Given the description of an element on the screen output the (x, y) to click on. 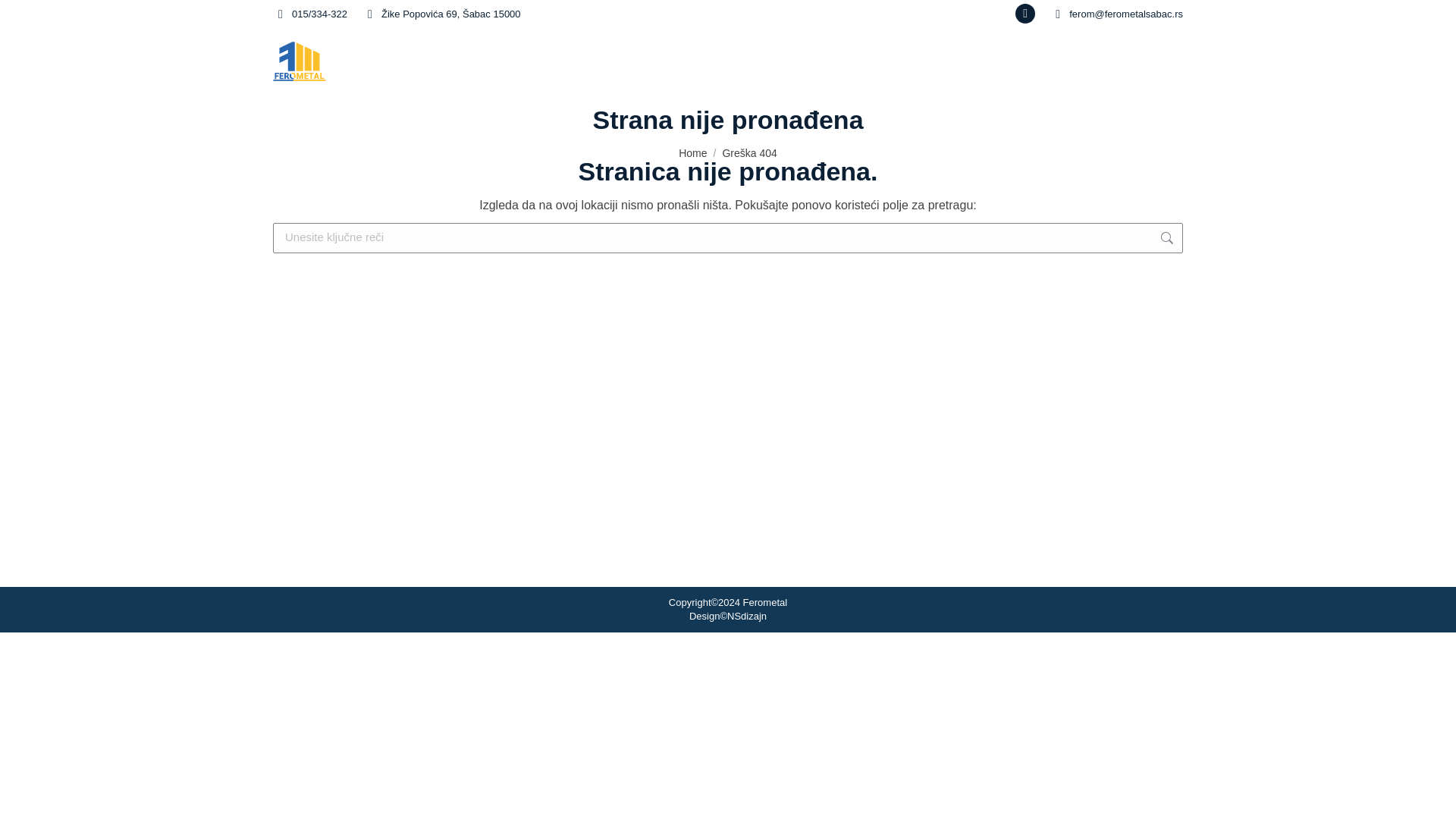
Naslovna (1000, 60)
O nama (1076, 60)
Idemo! (1214, 239)
Idemo! (1214, 239)
NSdizajn (746, 615)
Facebook page opens in new window (1024, 13)
Home (692, 152)
Idemo! (1214, 239)
Home (692, 152)
Kontakt (1149, 60)
Facebook page opens in new window (1024, 13)
Idemo! (32, 16)
